Given the description of an element on the screen output the (x, y) to click on. 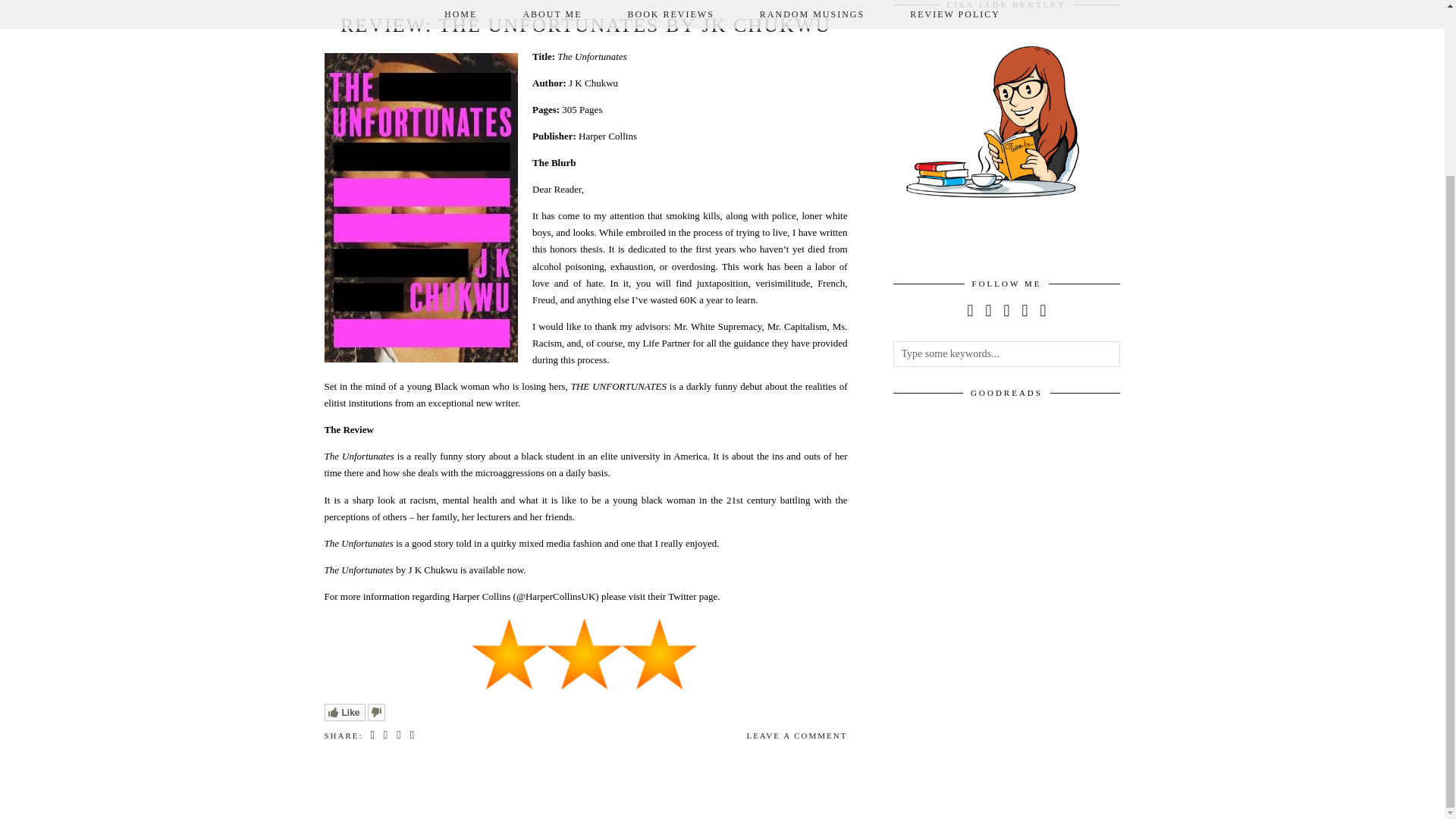
Share on tumblr (412, 735)
Share on Twitter (386, 735)
REVIEW: THE UNFORTUNATES BY JK CHUKWU (585, 25)
Share on Facebook (372, 735)
Share on Pinterest (399, 735)
LEAVE A COMMENT (796, 735)
